Given the description of an element on the screen output the (x, y) to click on. 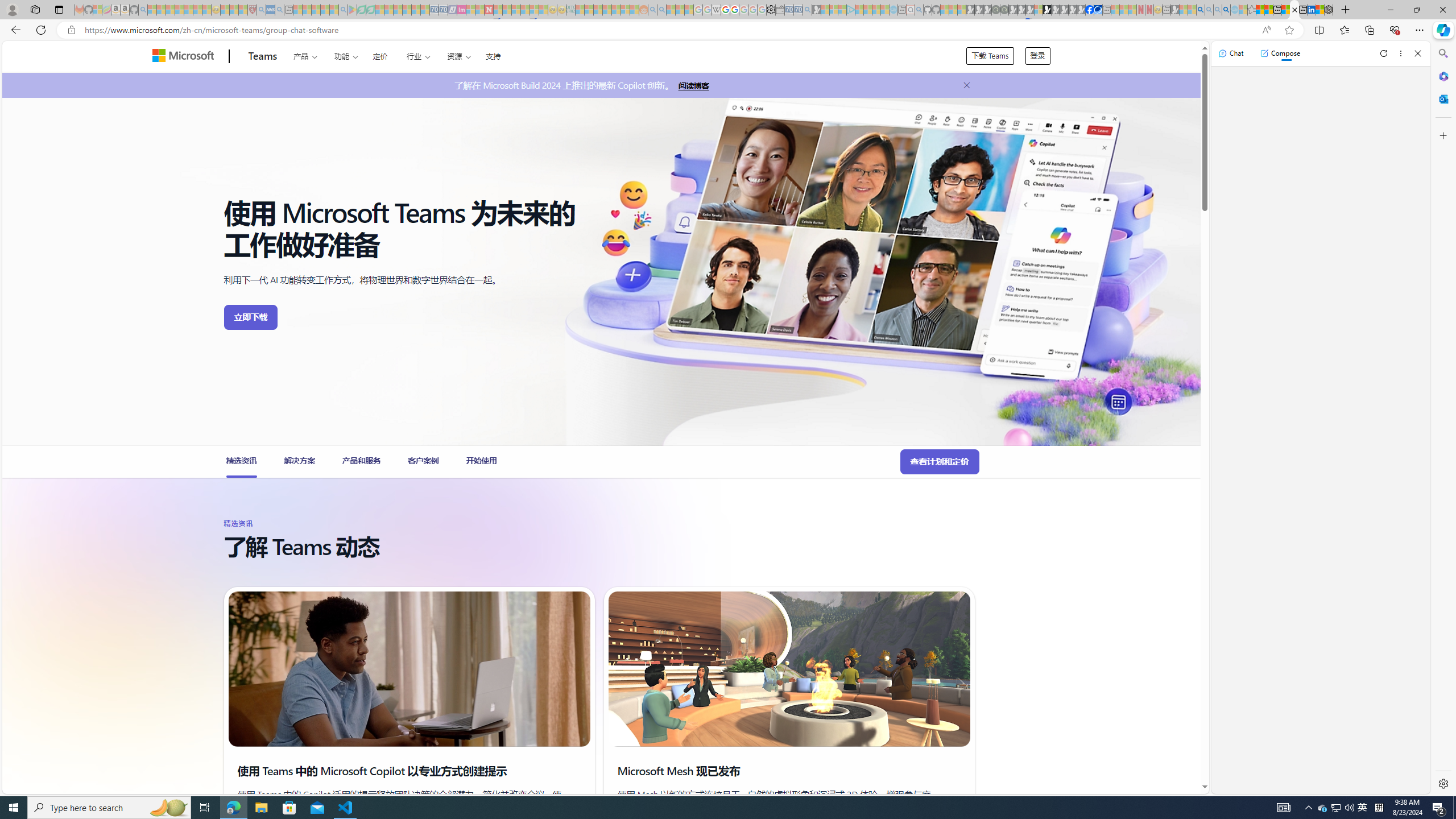
Compose (1279, 52)
Nordace - Summer Adventures 2024 (1328, 9)
google - Search - Sleeping (342, 9)
Nordace | Facebook (1089, 9)
Teams (262, 56)
